Given the description of an element on the screen output the (x, y) to click on. 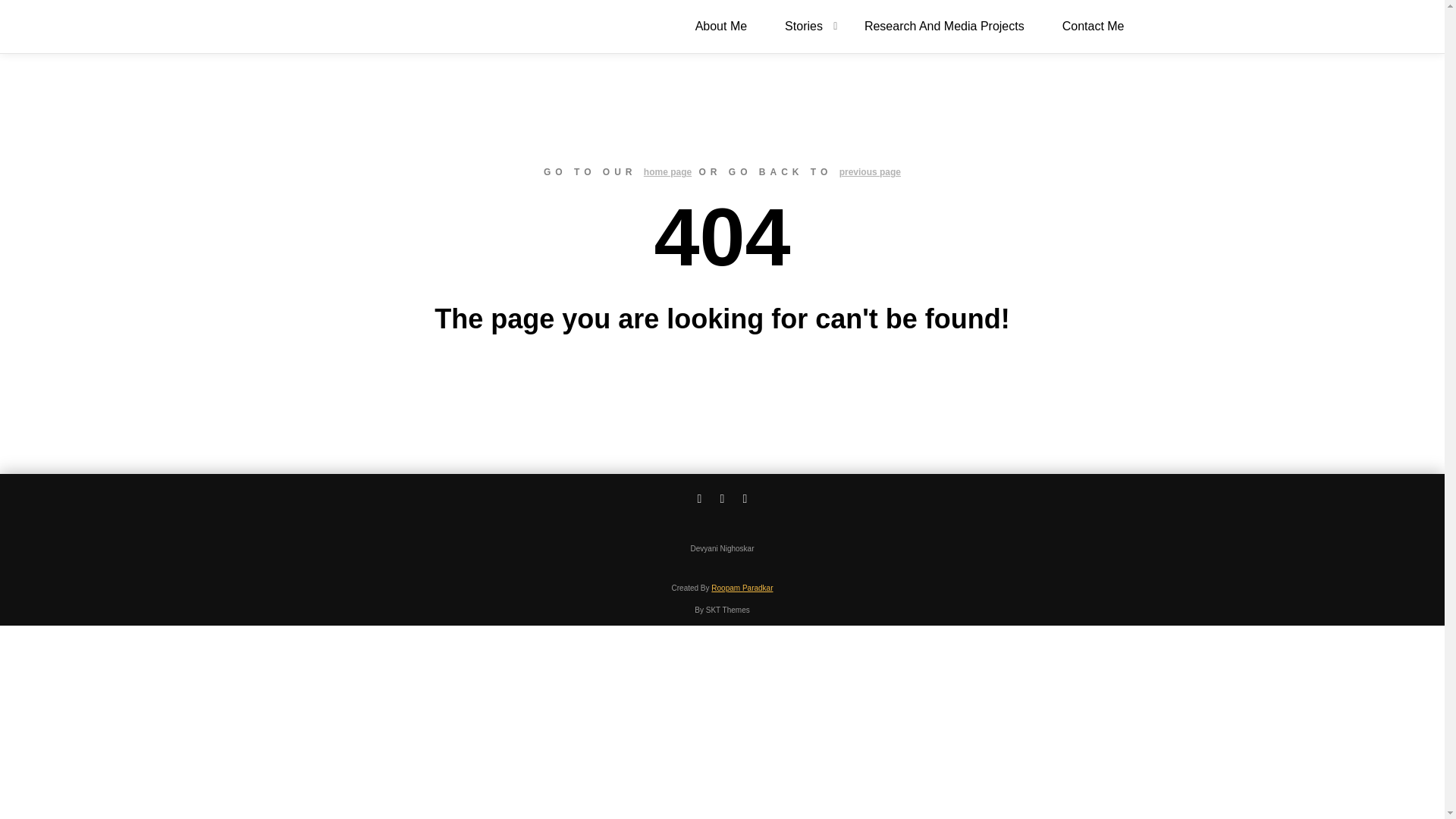
Devyani Nighoskar (357, 26)
About Me (721, 26)
Linkedin (700, 498)
Twitter (745, 498)
Roopam Paradkar (742, 587)
Contact Me (1092, 26)
Research And Media Projects (944, 26)
home page (667, 172)
previous page (870, 172)
Devyani Nighoskar (357, 26)
